Given the description of an element on the screen output the (x, y) to click on. 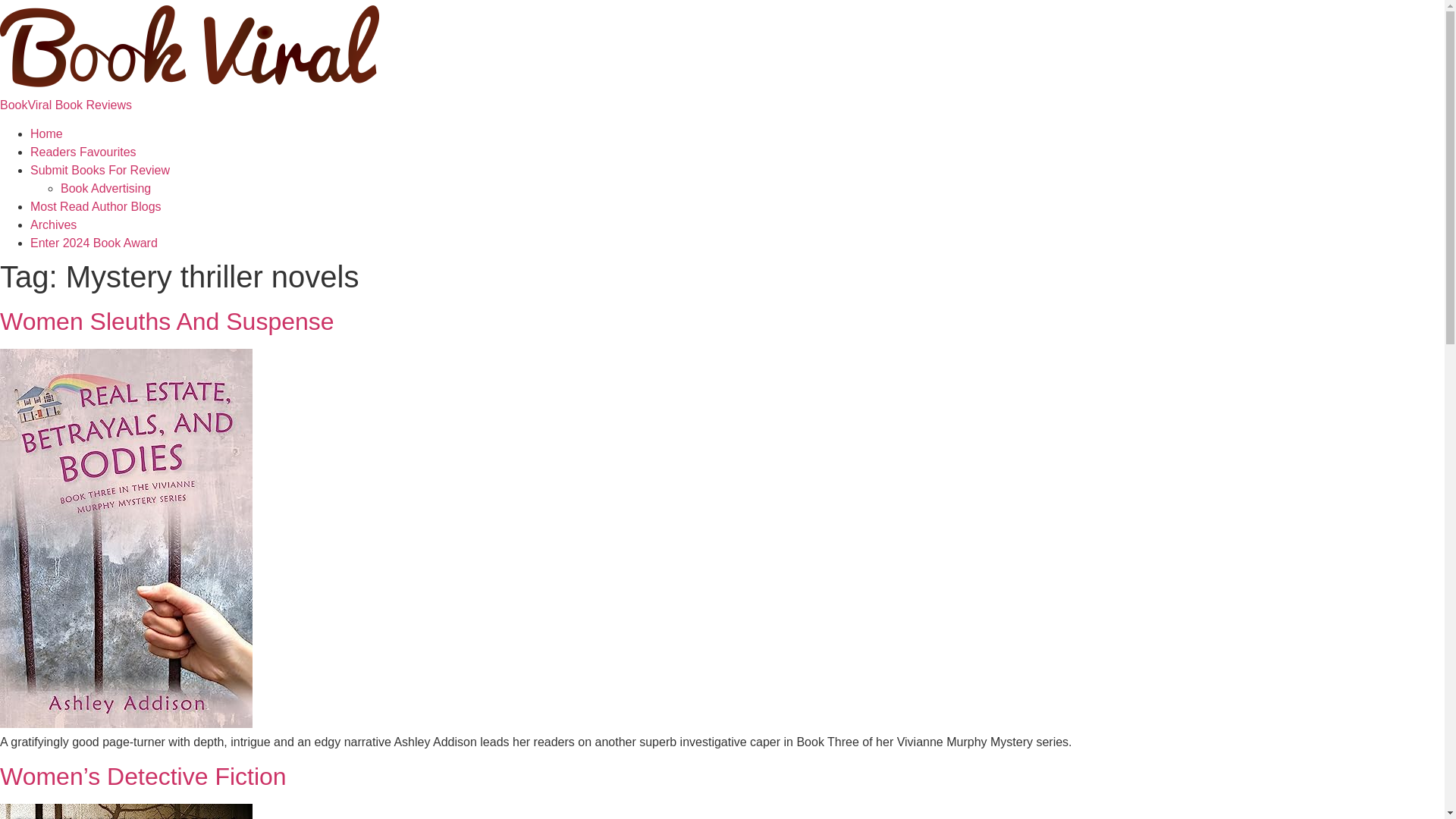
BookViral Book Reviews (66, 104)
Readers Favourites (83, 151)
Enter 2024 Book Award (93, 242)
Women Sleuths And Suspense (167, 320)
Home (66, 104)
Submit Books For Review (100, 169)
Book Advertising (106, 187)
Archives (53, 224)
Most Read Author Blogs (95, 205)
Home (46, 133)
